Given the description of an element on the screen output the (x, y) to click on. 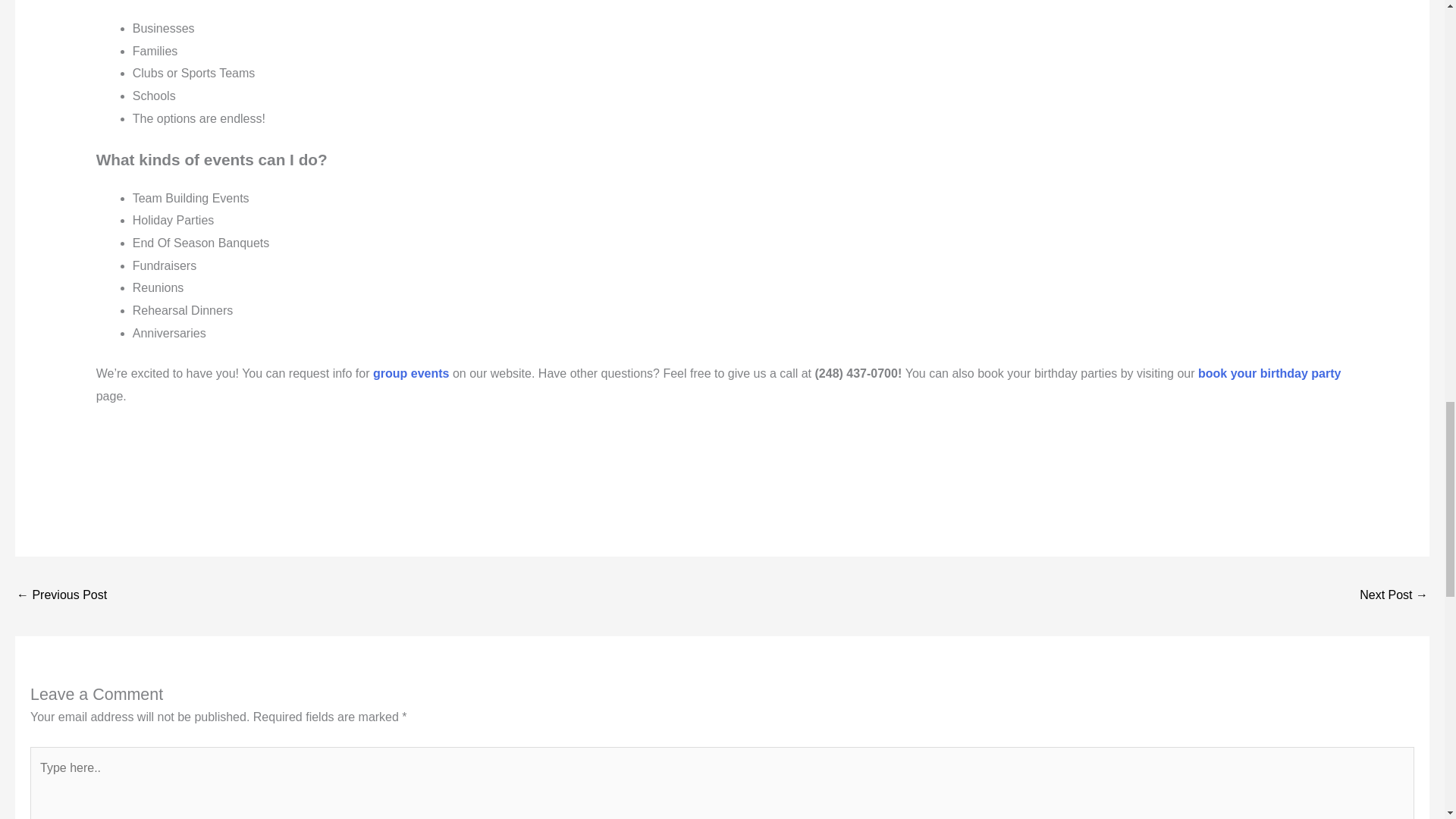
group events (410, 373)
Bowling With Santa! (1393, 596)
book your birthday party (1269, 373)
4 Simple Ways to Make Your Holiday Party Spectacular (61, 596)
